Given the description of an element on the screen output the (x, y) to click on. 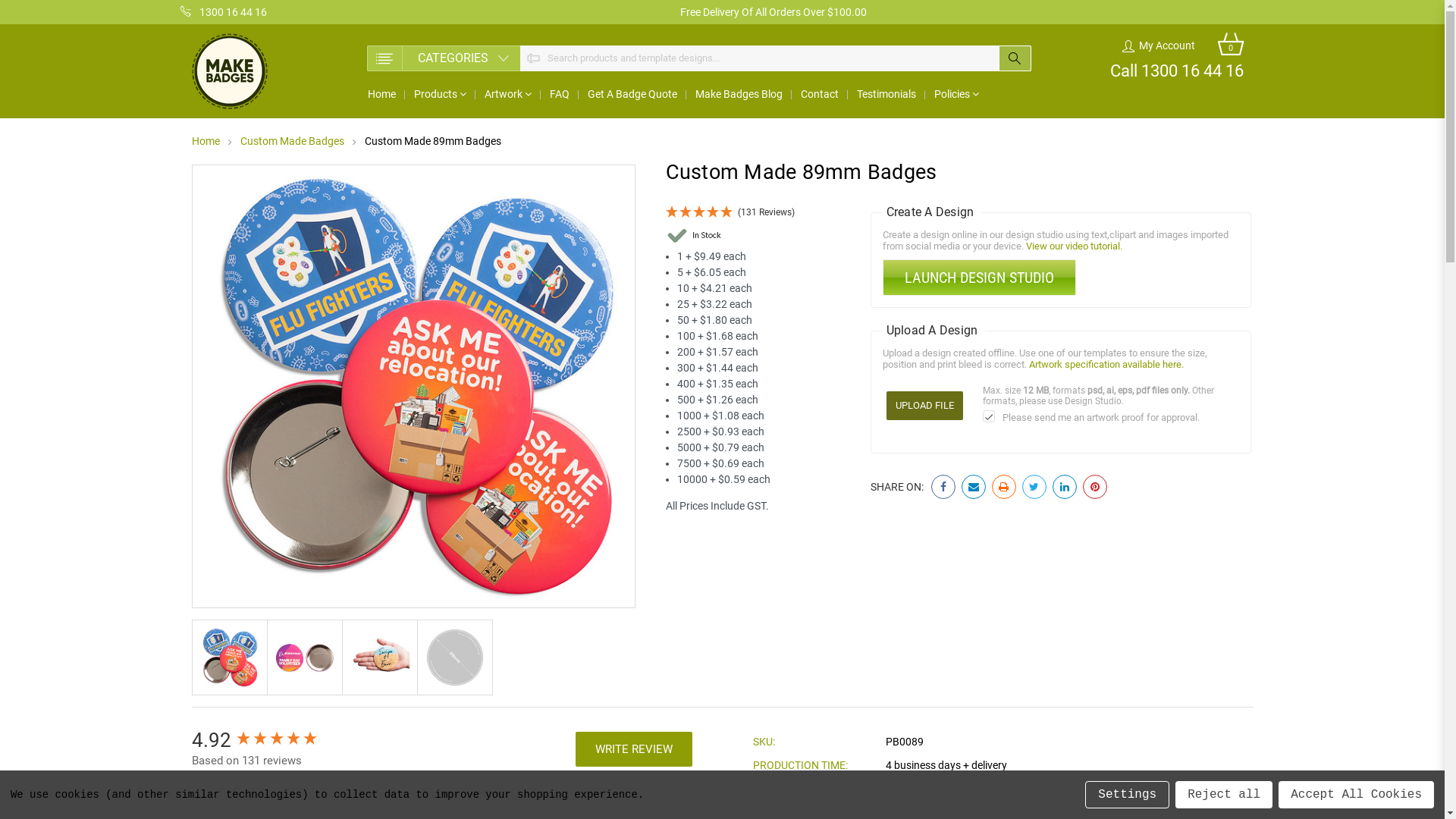
Artwork Element type: text (506, 93)
Artwork specification available here. Element type: text (1106, 363)
89mm diameter badges Element type: hover (379, 657)
FAQ Element type: text (558, 93)
Badges 89mm Element type: hover (453, 657)
Home Element type: text (205, 140)
1300 16 44 16 Element type: text (223, 12)
Get A Badge Quote Element type: text (631, 93)
Custom made 89mm badges round Element type: hover (303, 657)
Custom Made 89mm Badges Element type: text (432, 140)
Policies Element type: text (956, 93)
4.92 Stars Element type: hover (276, 739)
89mm diameter badges Element type: hover (229, 657)
Testimonials Element type: text (886, 93)
CATEGORIES Element type: text (443, 58)
Search Element type: text (1013, 58)
Reject all Element type: text (1223, 794)
Contact Element type: text (819, 93)
Custom Made Badges Element type: text (291, 140)
View our video tutorial. Element type: text (1074, 245)
My Account Element type: text (1158, 45)
89mm diameter badges Element type: hover (413, 385)
Home Element type: text (380, 93)
Search Element type: hover (296, 800)
Accept All Cookies Element type: text (1356, 794)
Make Badges Blog Element type: text (737, 93)
Products Element type: text (439, 93)
Call 1300 16 44 16 Element type: text (1176, 70)
Make Badges Element type: hover (228, 71)
0 Element type: text (1230, 45)
Settings Element type: text (1127, 794)
